Given the description of an element on the screen output the (x, y) to click on. 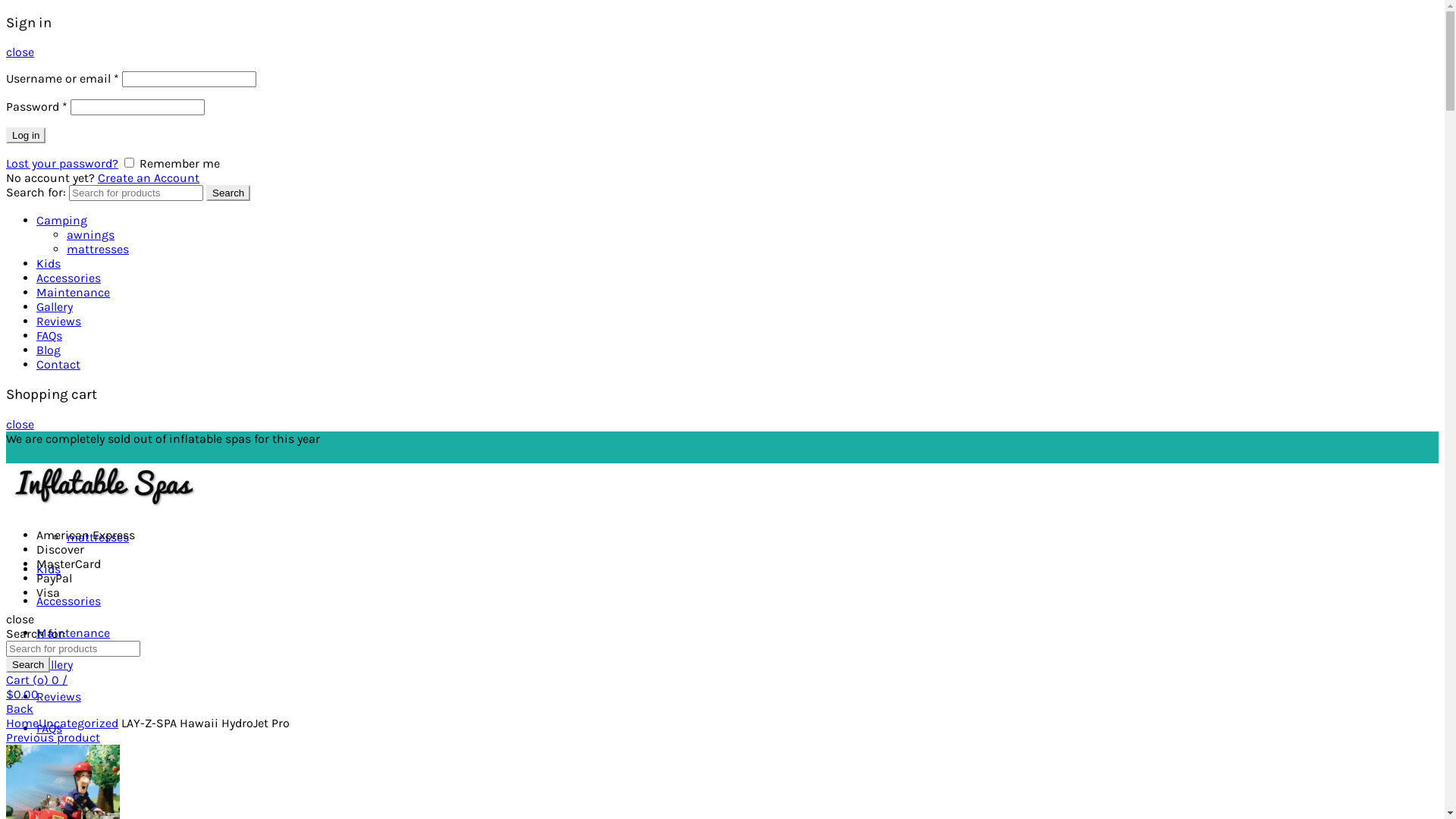
Camping Element type: text (61, 220)
Accessories Element type: text (68, 277)
Back Element type: text (19, 708)
Uncategorized Element type: text (78, 722)
Reviews Element type: text (58, 696)
Search Element type: text (228, 192)
Blog Element type: text (48, 349)
Maintenance Element type: text (72, 292)
Gallery Element type: text (54, 664)
mattresses Element type: text (97, 248)
FAQs Element type: text (49, 728)
Previous product Element type: text (53, 737)
Accessories Element type: text (68, 600)
Contact Element type: text (58, 364)
Reviews Element type: text (58, 320)
Contact Element type: text (58, 791)
Log in Element type: text (25, 135)
Camping Element type: text (61, 473)
Cart (o) 0 / $0.00 Element type: text (36, 686)
awnings Element type: text (90, 505)
Kids Element type: text (48, 568)
Maintenance Element type: text (72, 632)
Search Element type: text (28, 664)
close Element type: text (20, 51)
FAQs Element type: text (49, 335)
Home Element type: text (22, 722)
Lost your password? Element type: text (62, 163)
Create an Account Element type: text (148, 177)
awnings Element type: text (90, 234)
Blog Element type: text (48, 760)
mattresses Element type: text (97, 537)
Kids Element type: text (48, 263)
Gallery Element type: text (54, 306)
close Element type: text (20, 424)
